Given the description of an element on the screen output the (x, y) to click on. 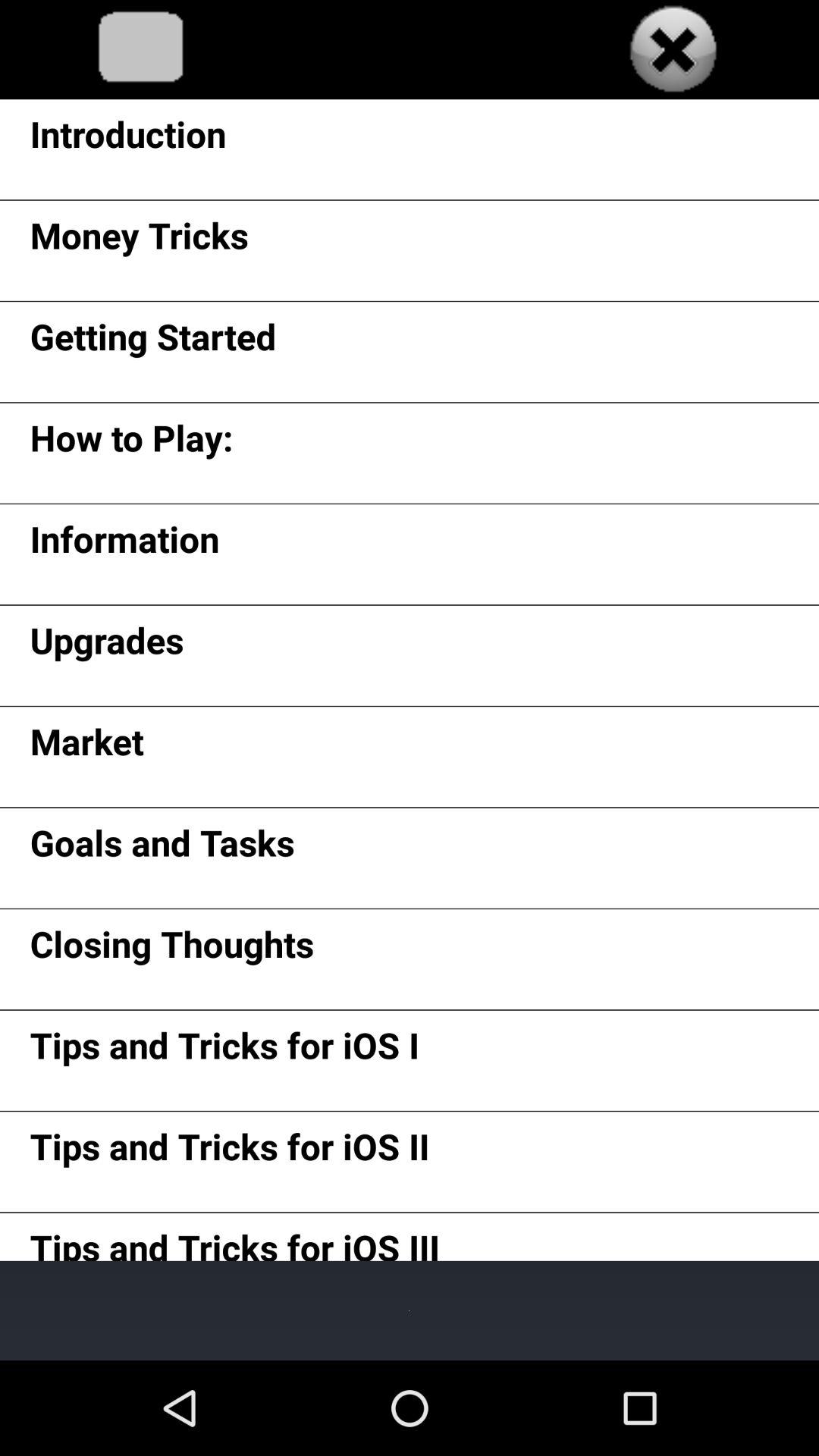
tap the item below money tricks item (153, 341)
